Given the description of an element on the screen output the (x, y) to click on. 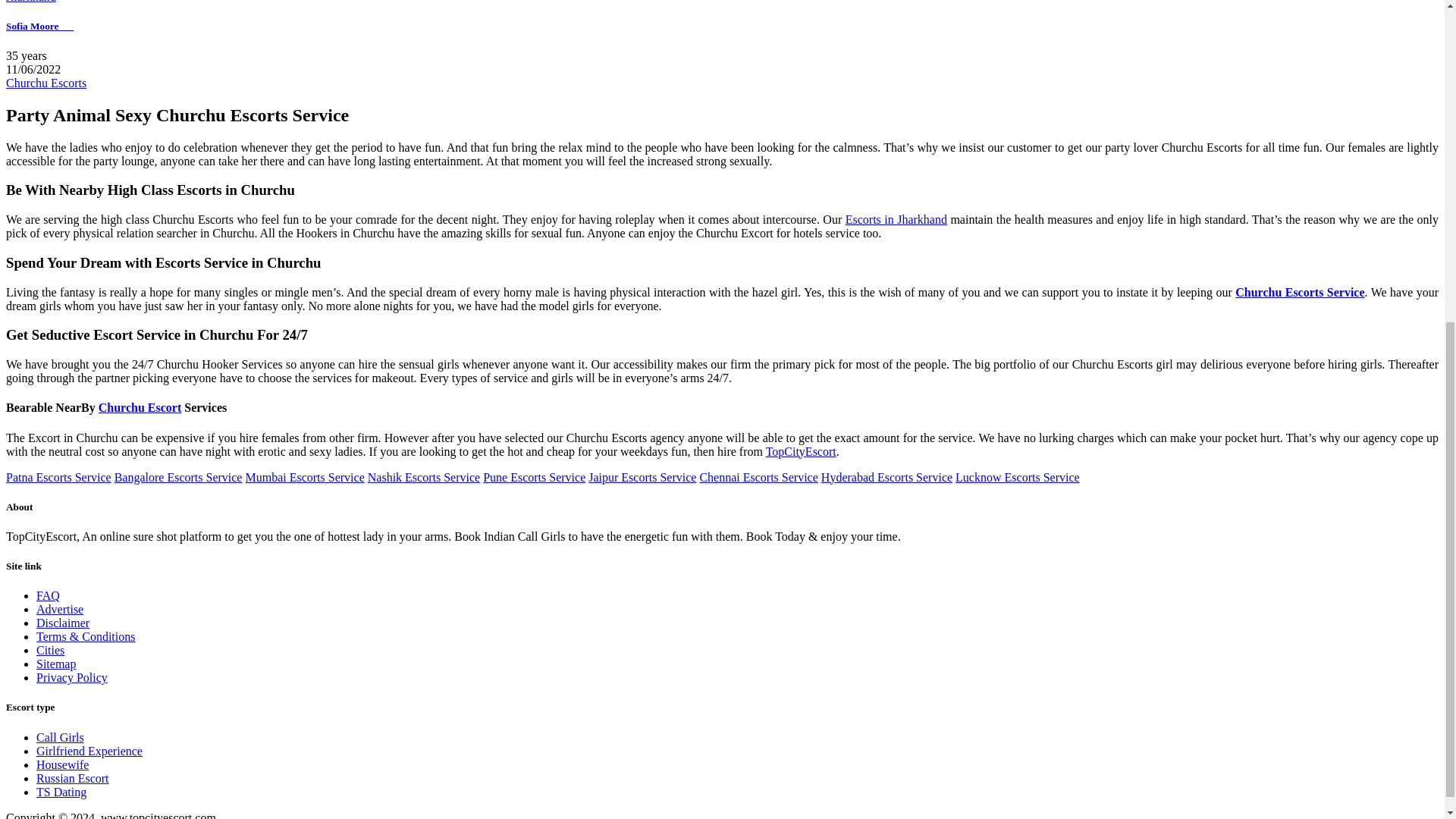
Sofia Moore (39, 25)
Sofia Moore       (39, 25)
Sitemap (55, 663)
Russian Escort (72, 778)
Churchu Escort (140, 407)
TopCityEscort (800, 451)
Mumbai Escorts Service (304, 477)
Nashik Escorts Service (424, 477)
Cities (50, 649)
Churchu Escorts Service (1299, 291)
Jharkhand (30, 1)
Privacy Policy (71, 676)
Sitemap (55, 663)
Disclaimer (62, 622)
Bangalore Escorts Service (179, 477)
